Given the description of an element on the screen output the (x, y) to click on. 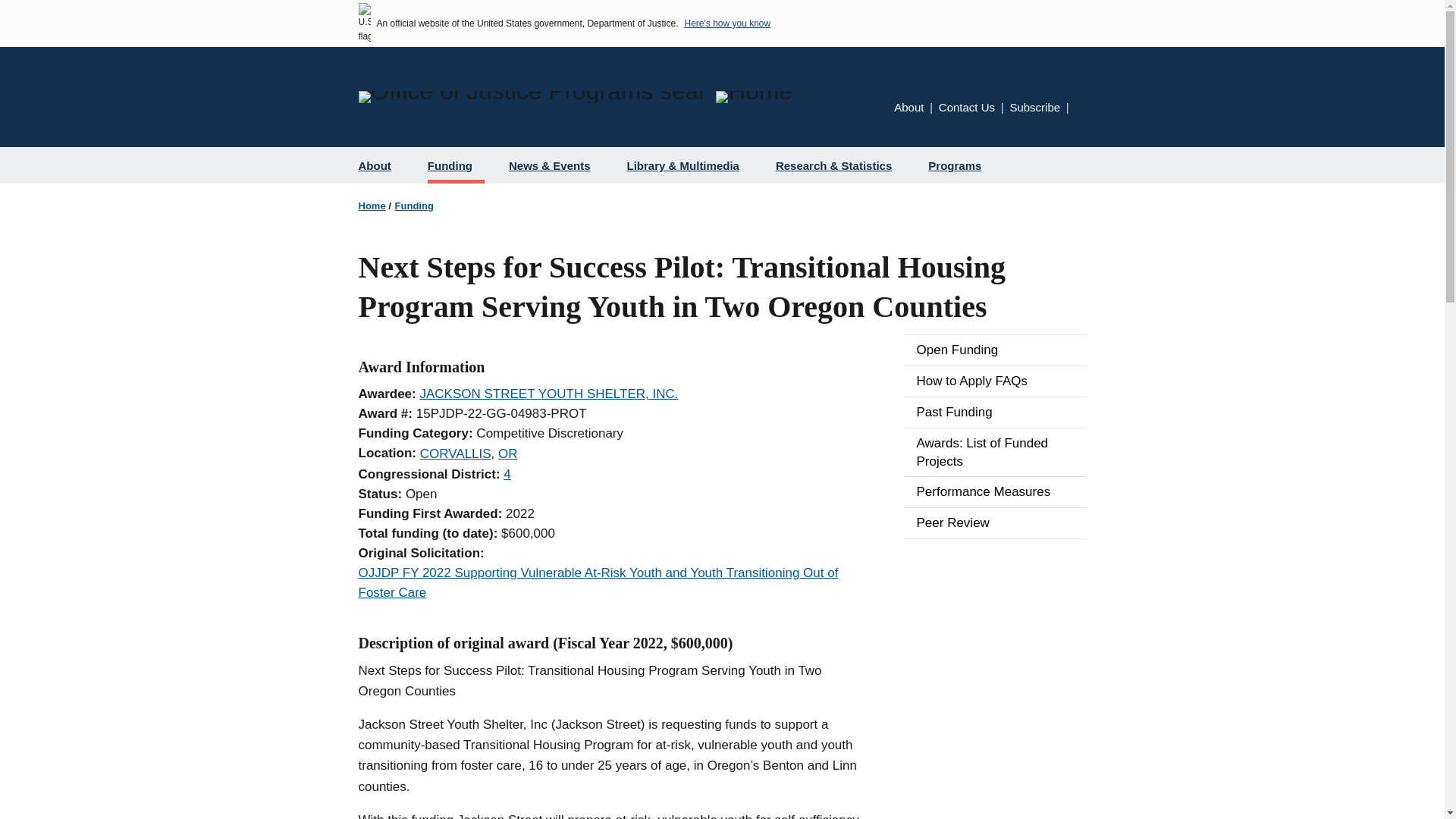
Past Funding (995, 412)
Open Funding (995, 349)
Funding (455, 165)
How to Apply FAQs (995, 381)
4 (507, 473)
OR (507, 453)
Programs (960, 165)
Peer Review (995, 522)
JACKSON STREET YOUTH SHELTER, INC. (548, 393)
About (380, 165)
Funding (413, 205)
Home (754, 96)
Performance Measures (995, 491)
Home (371, 205)
